Given the description of an element on the screen output the (x, y) to click on. 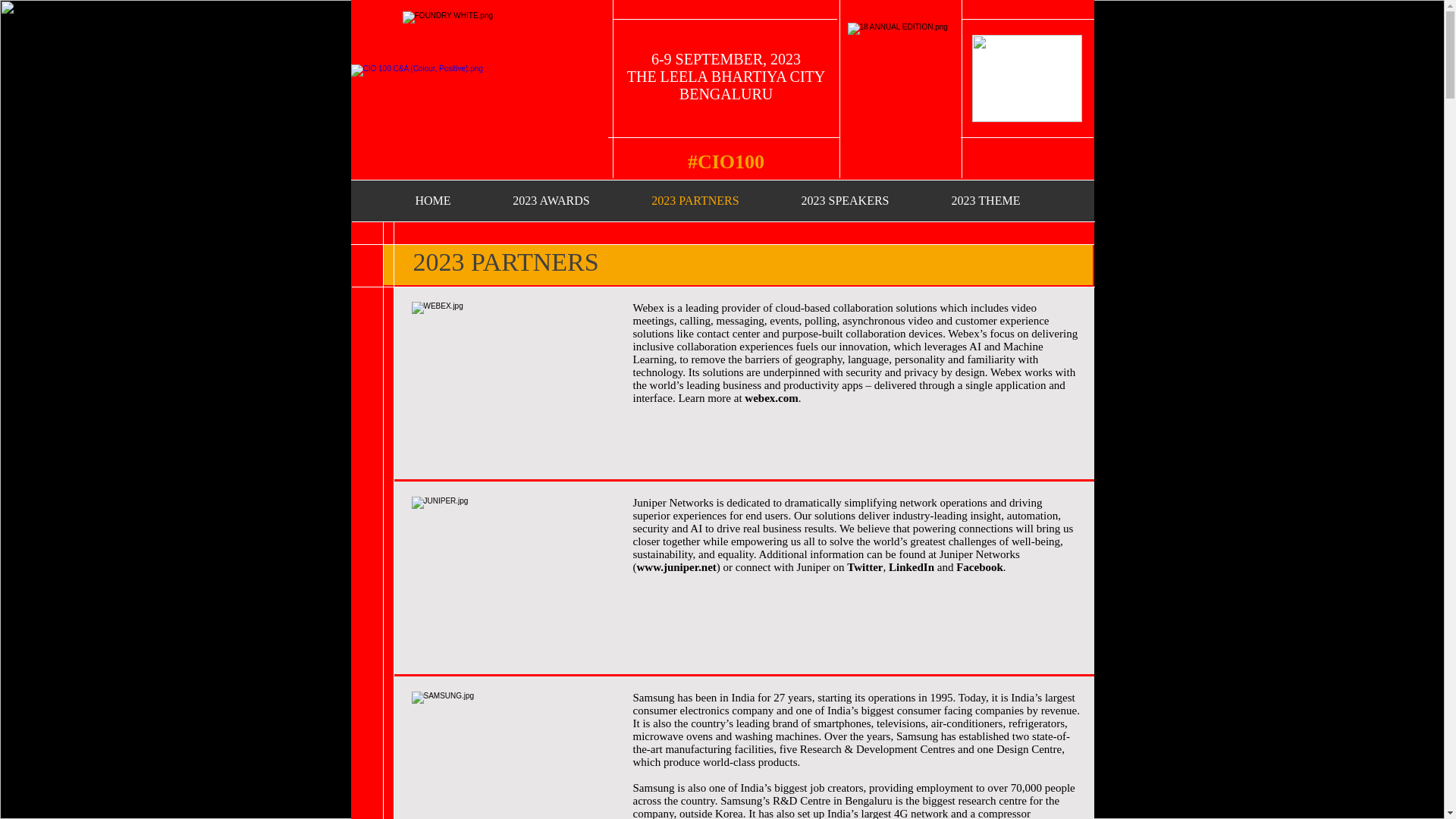
www.juniper.net (676, 567)
2023 THEME (985, 199)
HOME (432, 199)
2023 SPEAKERS (845, 199)
webex.com (770, 398)
2023 PARTNERS (695, 199)
